Given the description of an element on the screen output the (x, y) to click on. 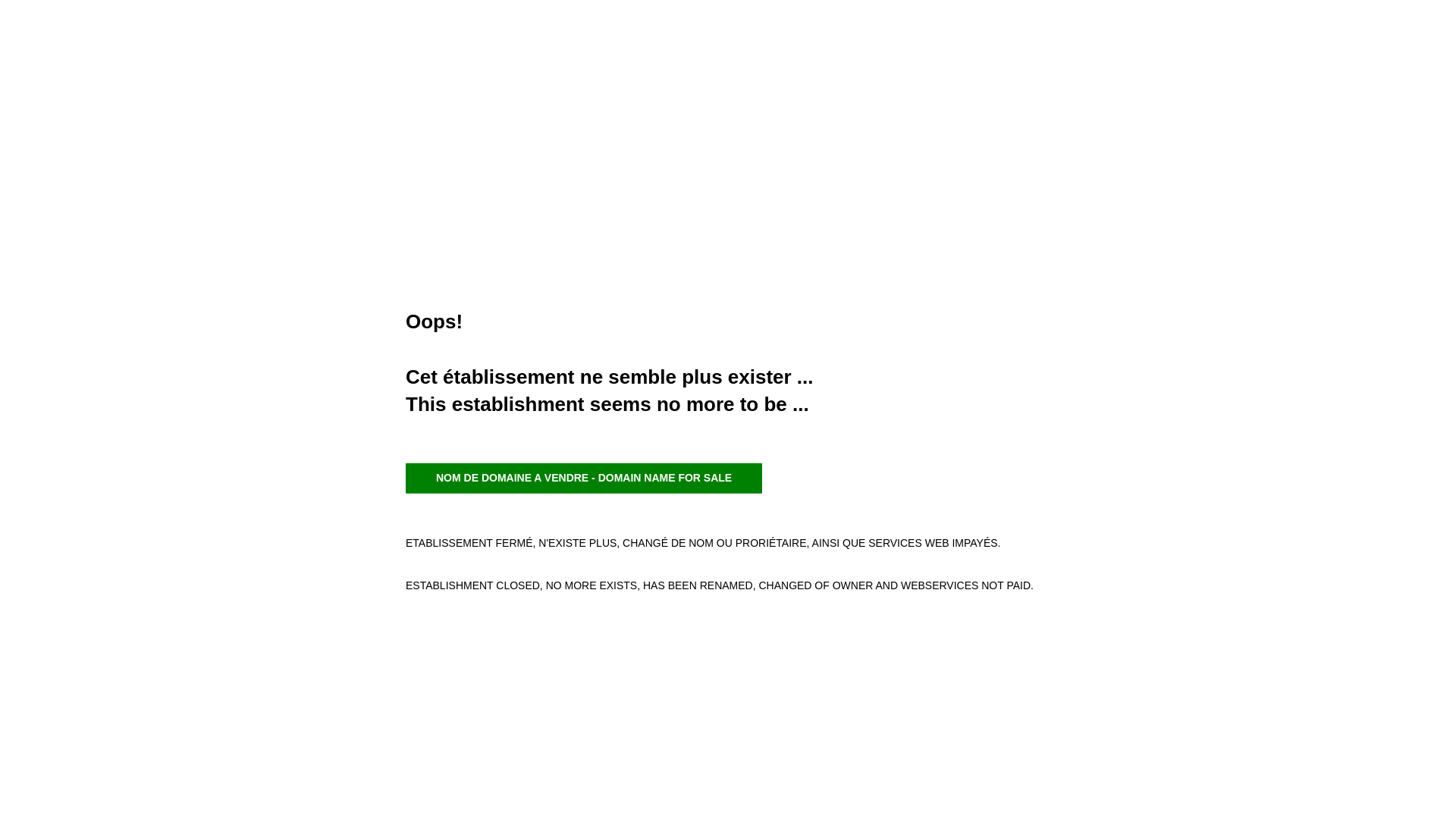
NOM DE DOMAINE A VENDRE - DOMAIN NAME FOR SALE Element type: text (583, 478)
